Given the description of an element on the screen output the (x, y) to click on. 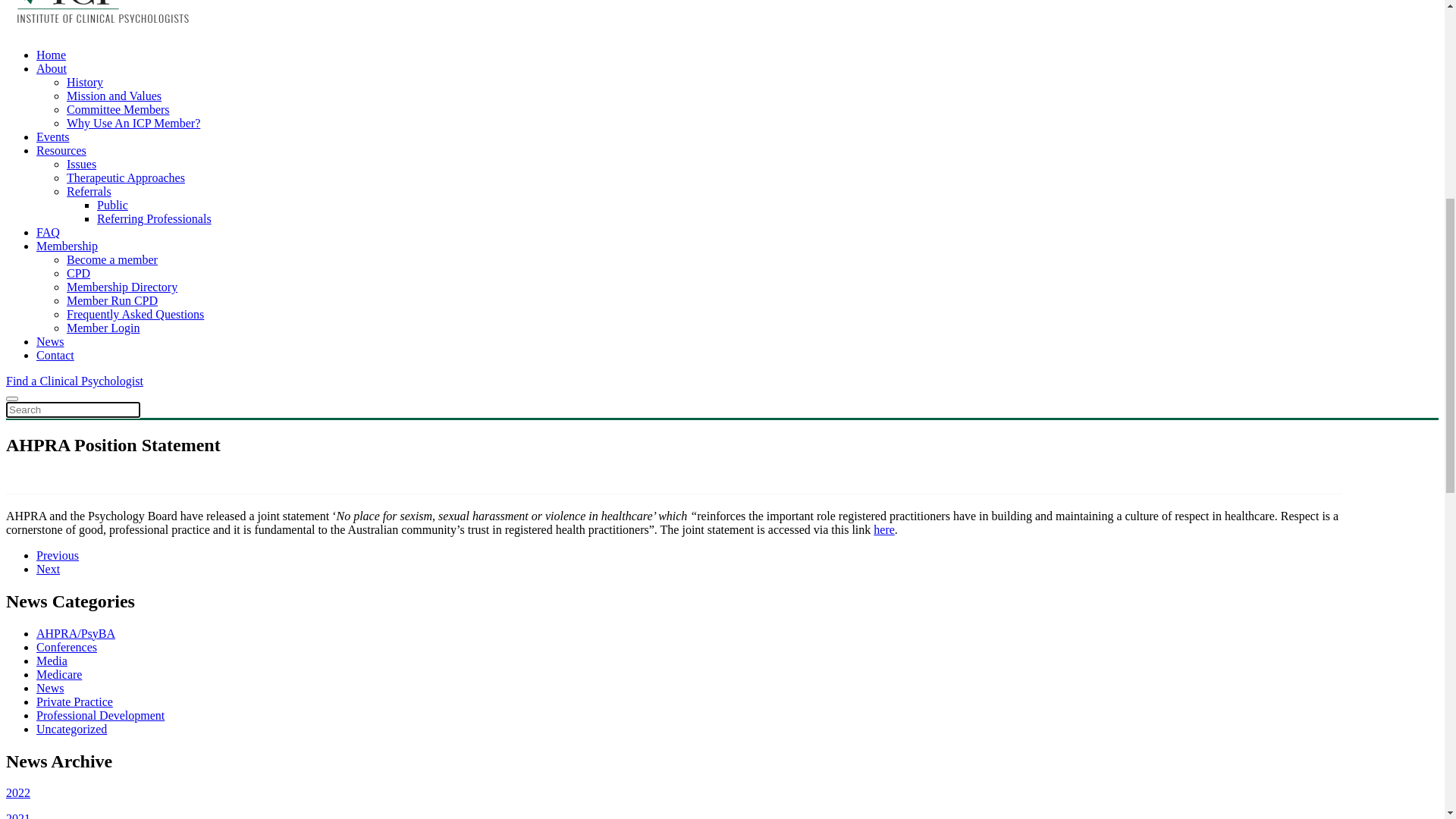
Membership Element type: text (66, 321)
Contact Element type: text (24, 456)
Referrals Element type: text (88, 713)
Why Use An ICP Member? Element type: text (133, 198)
Member Run CPD Element type: text (111, 376)
Membership Element type: text (66, 768)
History Element type: text (84, 157)
FAQ Element type: text (47, 754)
Issues Element type: text (81, 686)
CPD Element type: text (78, 348)
Frequently Asked Questions Element type: text (134, 389)
Public Element type: text (112, 280)
Membership Directory Element type: text (121, 809)
Mission and Values Element type: text (113, 171)
Issues Element type: text (81, 239)
Events Element type: text (52, 658)
Referring Professionals Element type: text (154, 294)
About Element type: text (51, 144)
Skip to main content Element type: text (56, 12)
Therapeutic Approaches Element type: text (125, 253)
Referring Professionals Element type: text (154, 740)
History Element type: text (84, 604)
Mission and Values Element type: text (113, 617)
Referrals Element type: text (88, 266)
Public Element type: text (112, 727)
Become a member Element type: text (111, 335)
Home Element type: text (50, 577)
Member Login Element type: text (102, 403)
Why Use An ICP Member? Element type: text (133, 645)
Contact Element type: text (55, 430)
Events Element type: text (52, 212)
Resources Element type: text (61, 225)
FAQ Element type: text (47, 307)
Become a member Element type: text (111, 781)
News Element type: text (49, 417)
About Element type: text (51, 590)
Resources Element type: text (61, 672)
Membership Directory Element type: text (121, 362)
Therapeutic Approaches Element type: text (125, 699)
Committee Members Element type: text (117, 631)
CPD Element type: text (78, 795)
Home Element type: text (50, 130)
Committee Members Element type: text (117, 184)
